Given the description of an element on the screen output the (x, y) to click on. 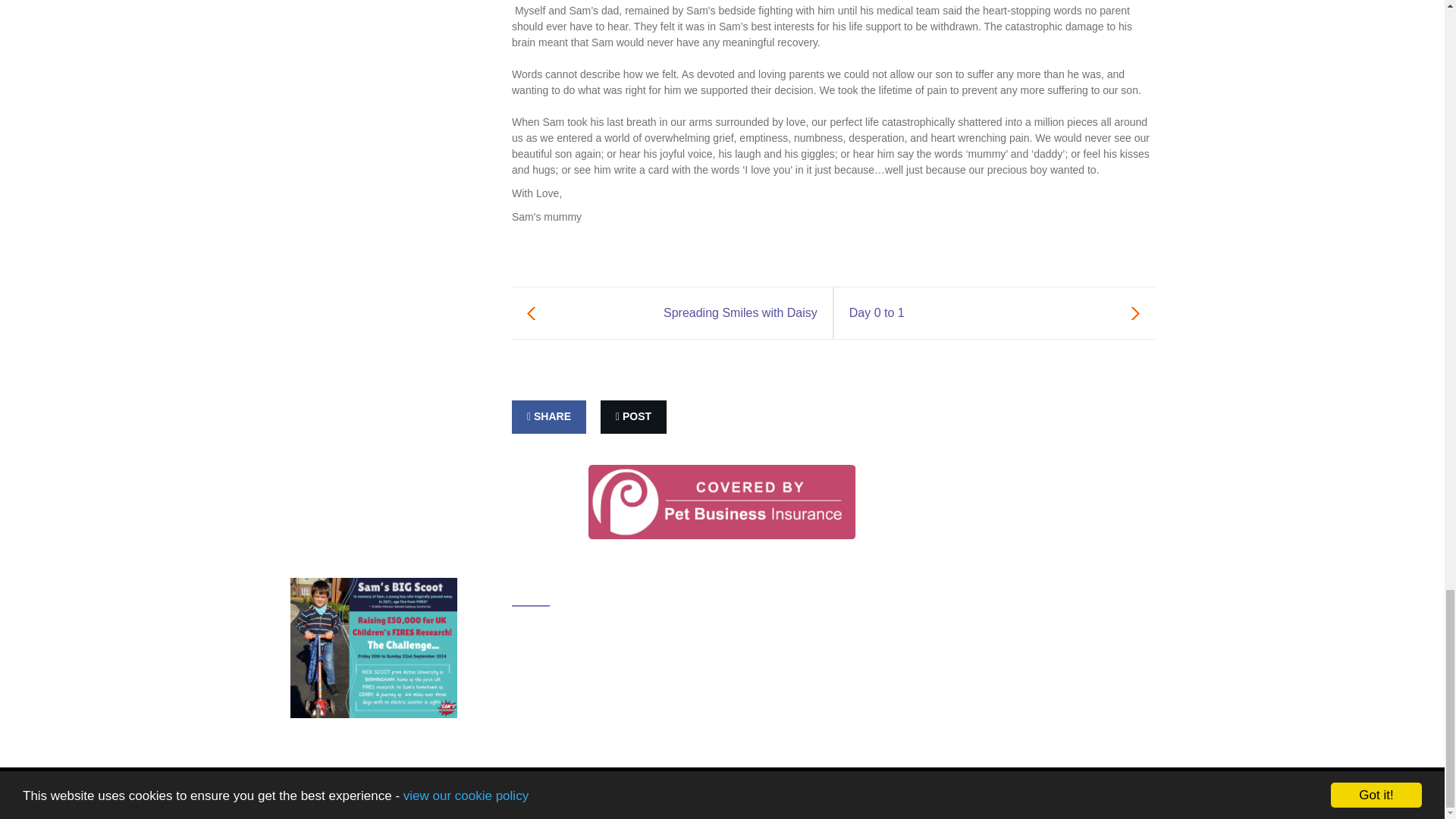
Pet business insurance  (722, 500)
Post on X (632, 417)
Share on Facebook (549, 417)
